Given the description of an element on the screen output the (x, y) to click on. 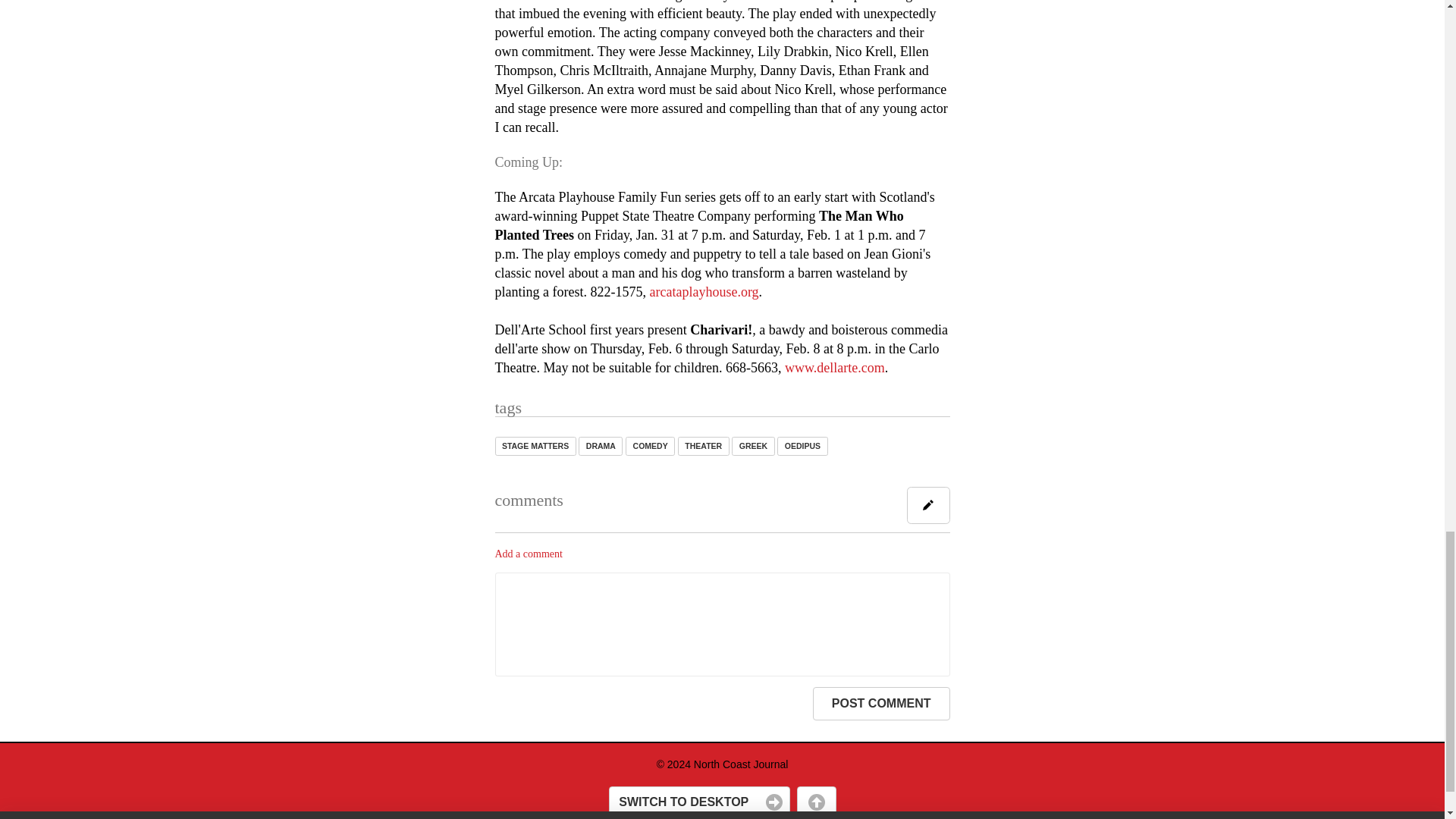
Post Comment (881, 703)
Post Comment (881, 703)
www.dellarte.com (834, 367)
GREEK (753, 445)
THEATER (703, 445)
STAGE MATTERS (535, 445)
arcataplayhouse.org (703, 291)
COMEDY (650, 445)
DRAMA (600, 445)
SWITCH TO DESKTOP (698, 802)
Add a comment (528, 553)
ADD A COMMENT (928, 505)
OEDIPUS (802, 445)
BACK TO TOP (815, 802)
